Given the description of an element on the screen output the (x, y) to click on. 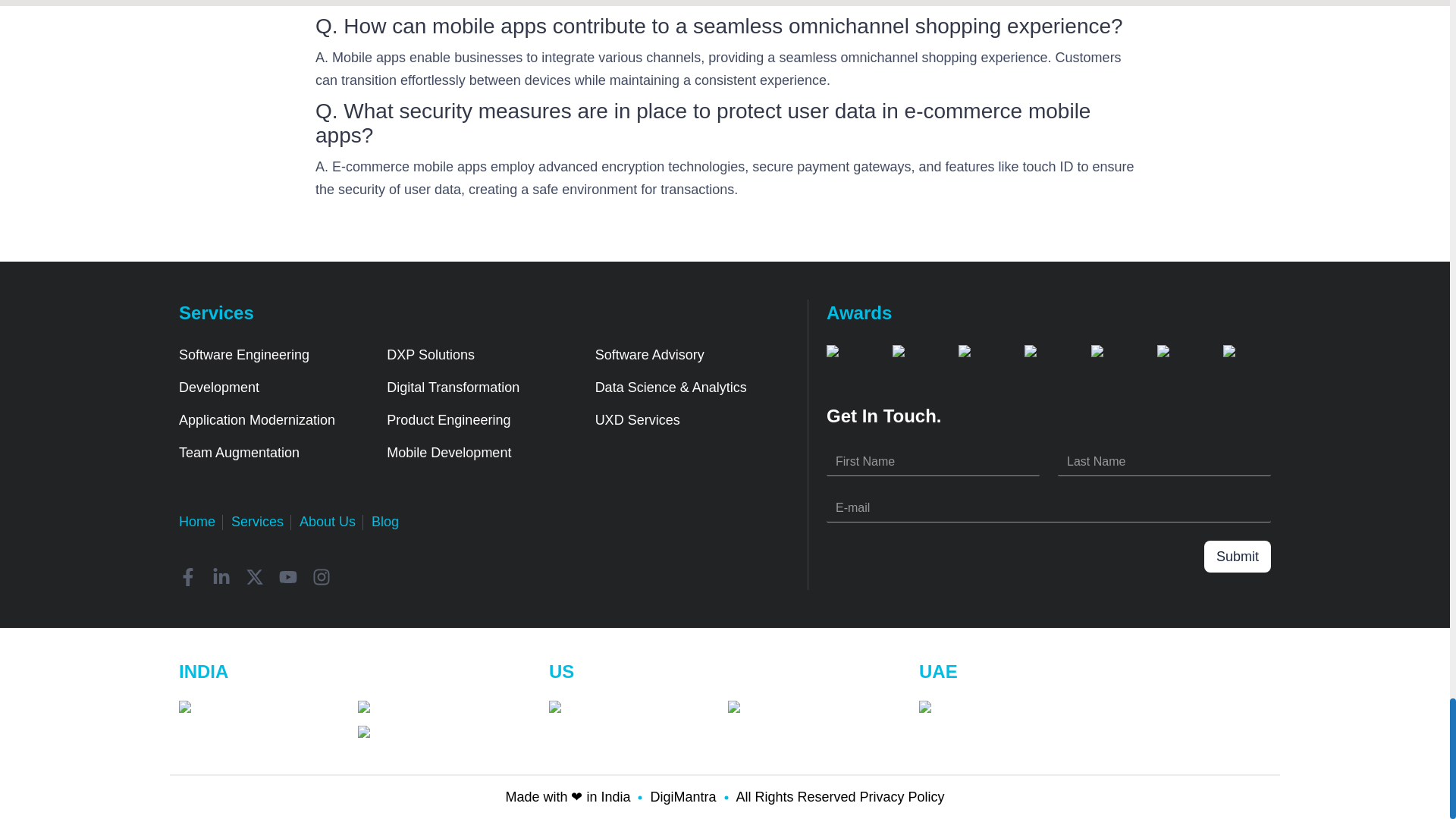
Submit (1237, 556)
Mobile Development (449, 452)
Team Augmentation (239, 452)
Software Advisory (649, 354)
Application Modernization (256, 420)
Digital Transformation (453, 386)
Product Engineering (449, 420)
About Us (327, 521)
Home (197, 521)
Software Engineering (243, 354)
